Given the description of an element on the screen output the (x, y) to click on. 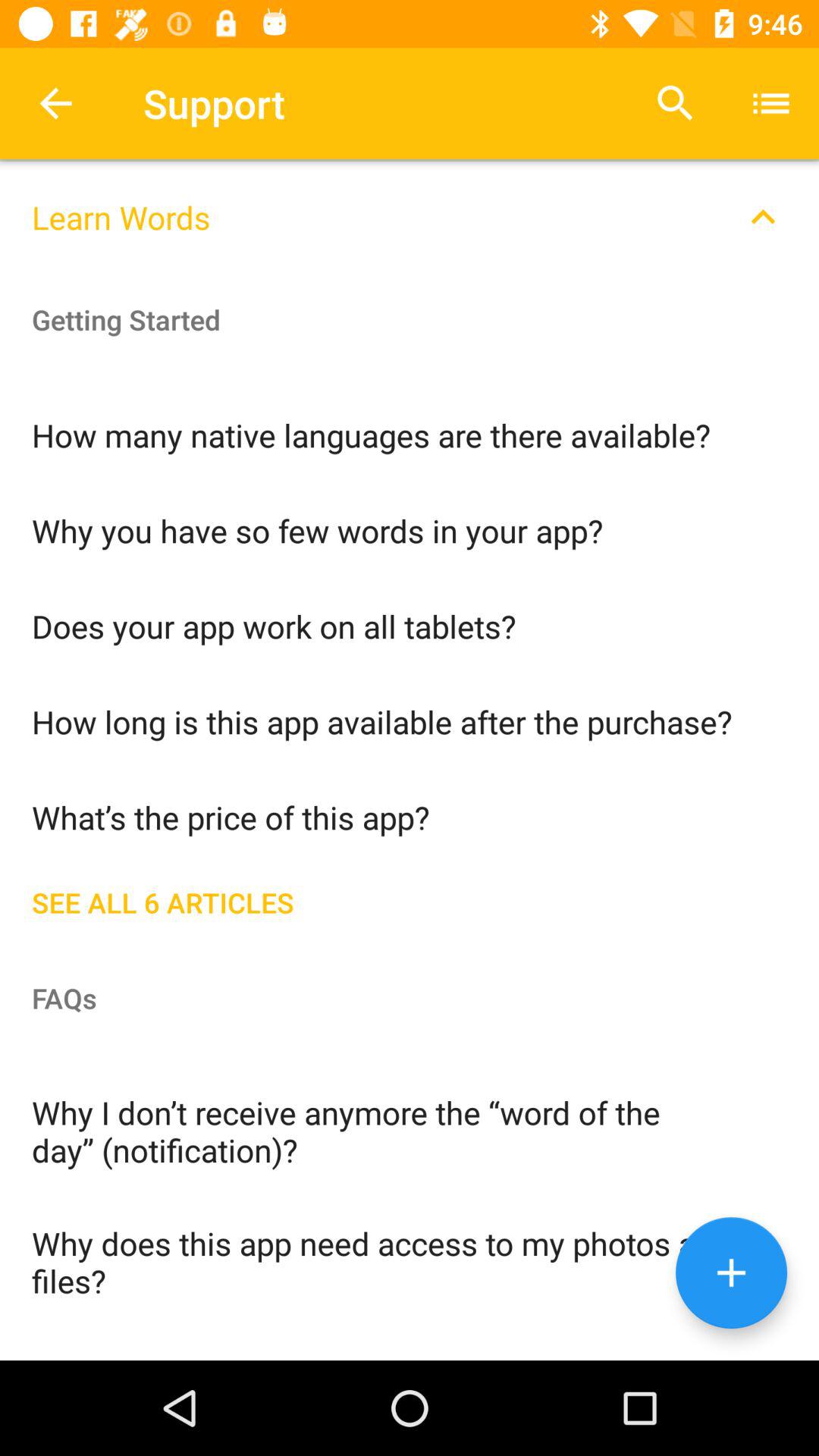
turn on item below the how many native (409, 529)
